Given the description of an element on the screen output the (x, y) to click on. 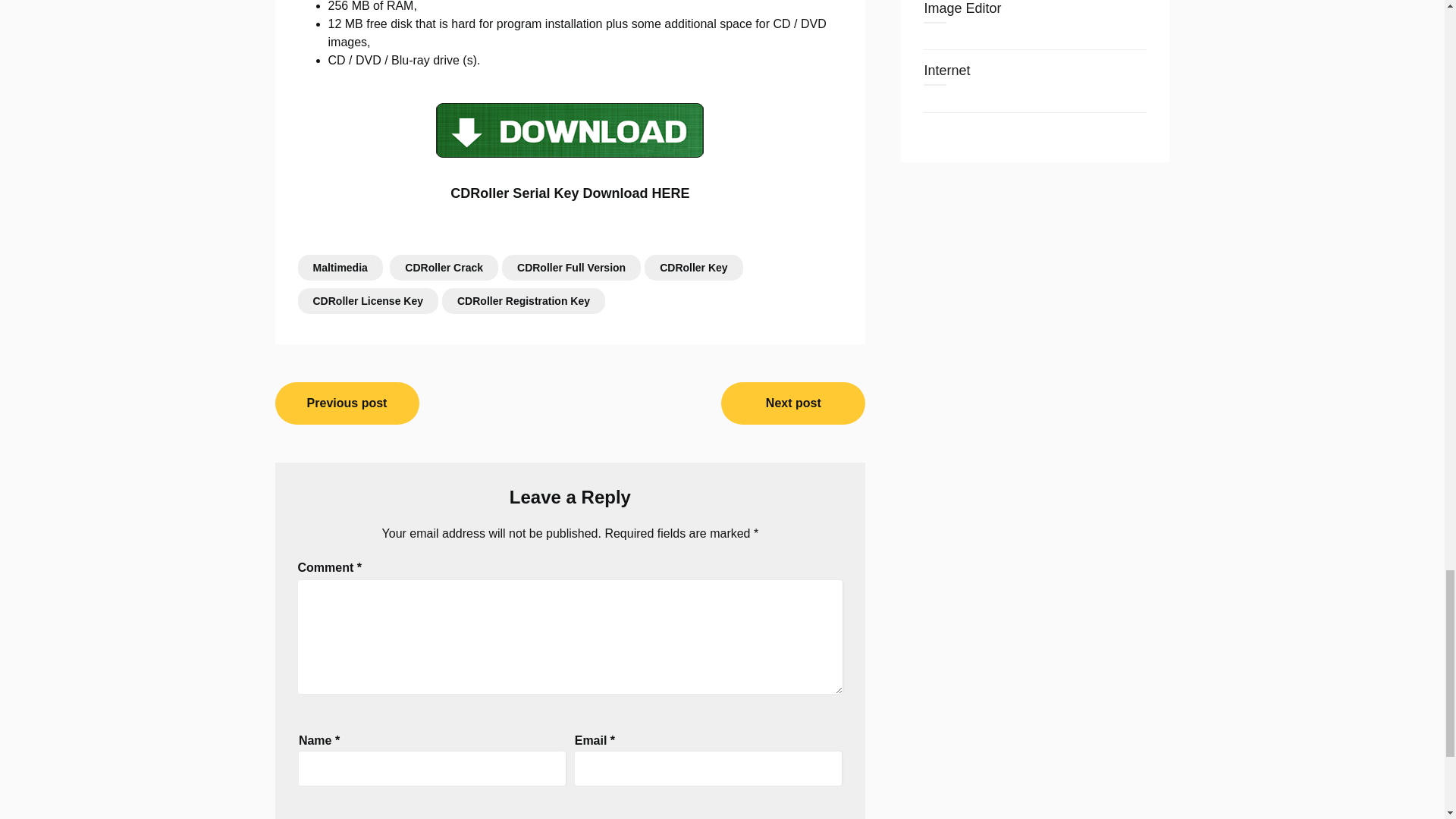
CDRoller License Key (367, 300)
CDRoller Crack (443, 267)
CDRoller Registration Key (523, 300)
Previous post (347, 403)
CDRoller Key (693, 267)
CDRoller Full Version (571, 267)
Next post (792, 403)
Maltimedia (339, 267)
